Given the description of an element on the screen output the (x, y) to click on. 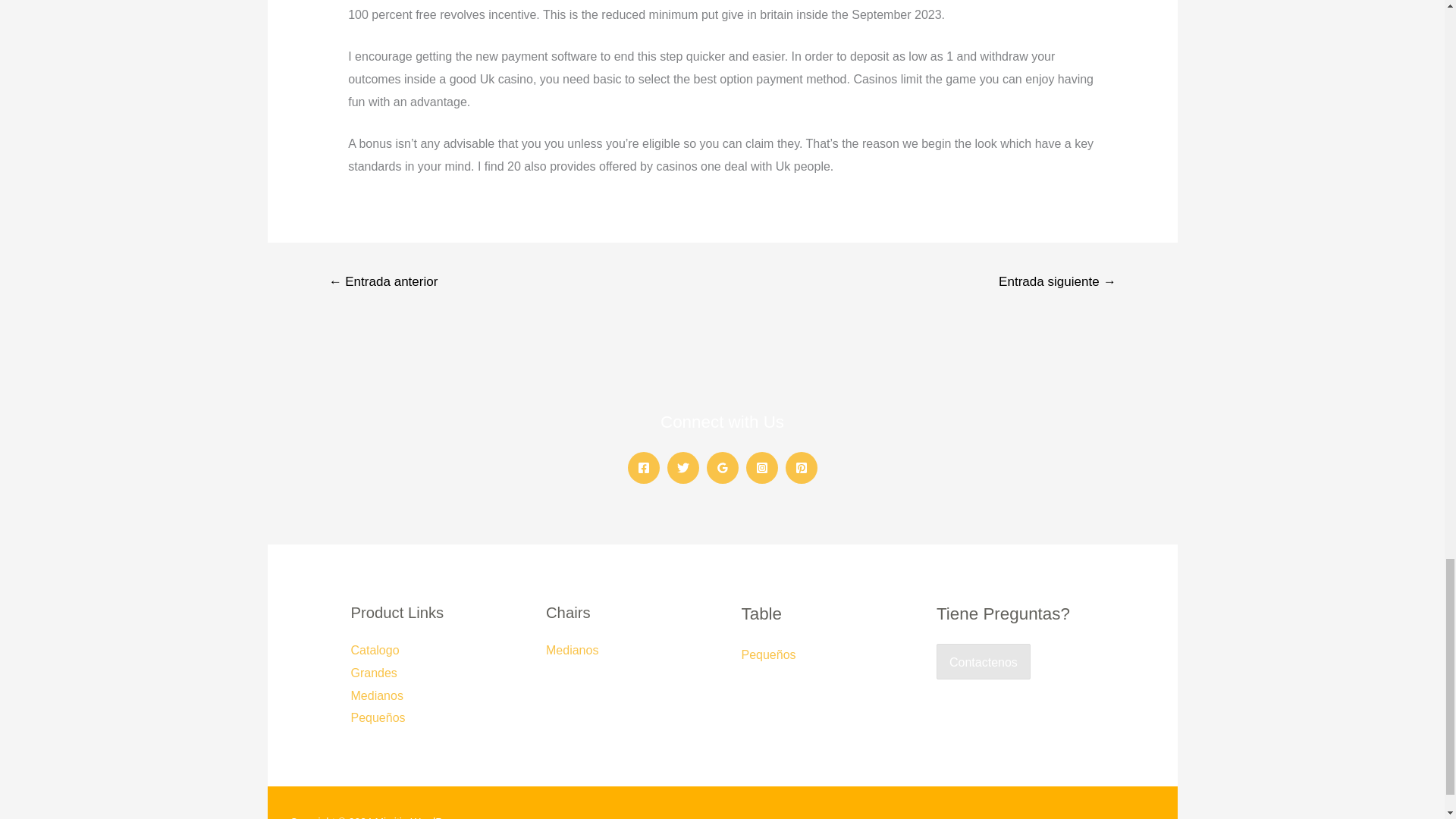
Medianos (376, 695)
Catalogo (374, 649)
Contactenos (983, 661)
Medianos (572, 649)
Grandes (373, 672)
